Given the description of an element on the screen output the (x, y) to click on. 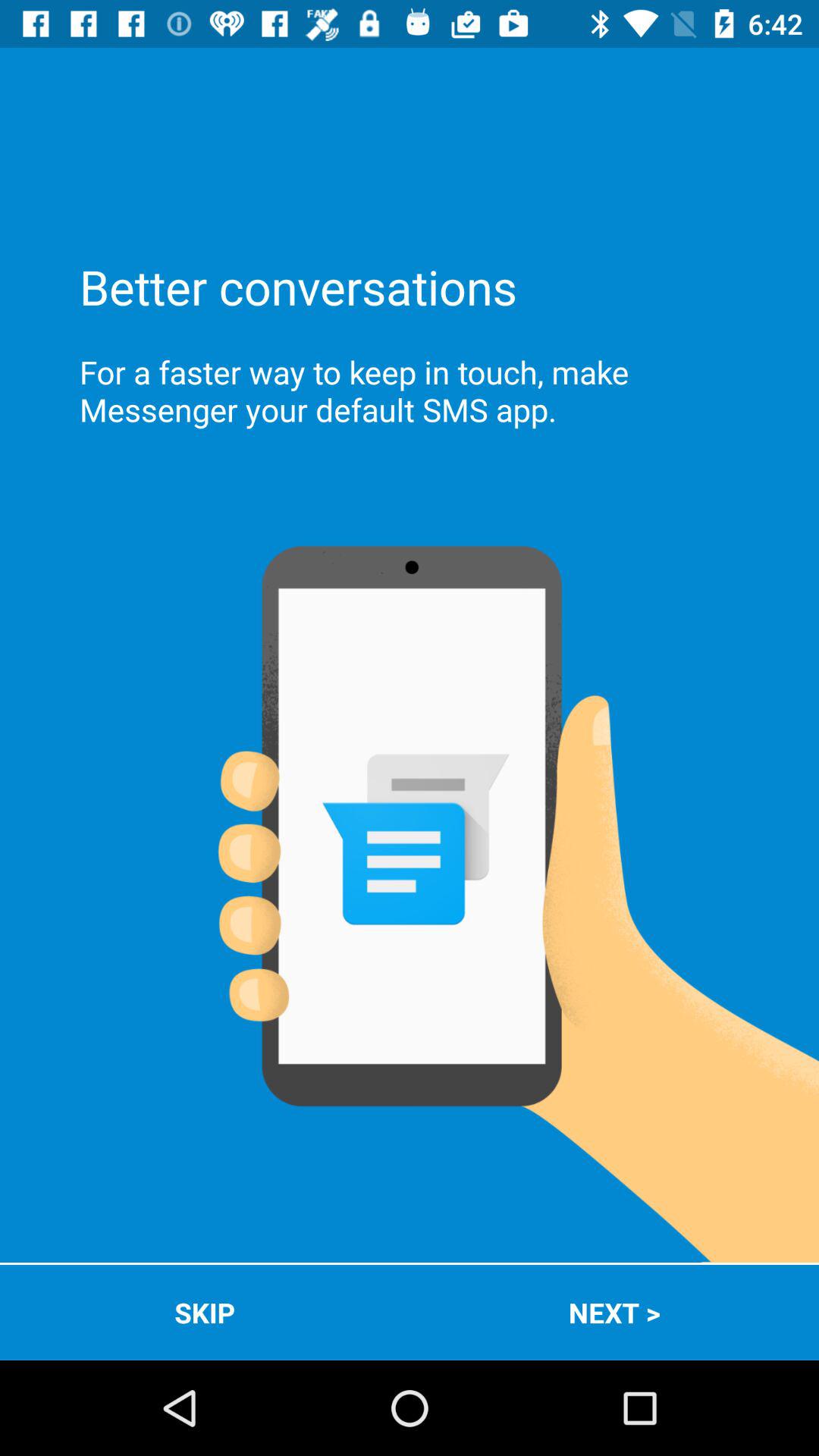
tap the icon next to the skip item (614, 1312)
